Given the description of an element on the screen output the (x, y) to click on. 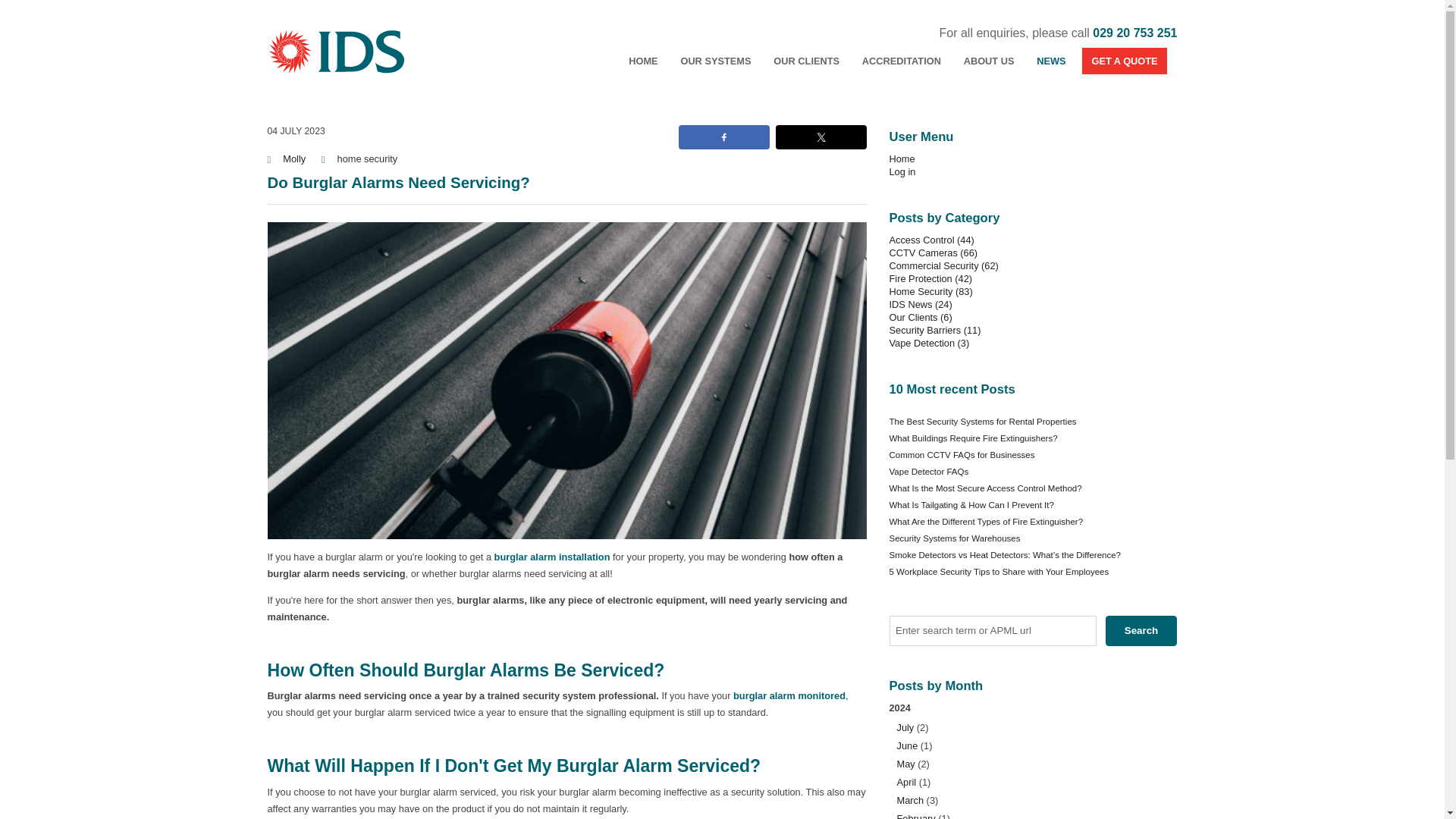
burglar alarm monitored (789, 695)
Enter search term or APML url (992, 630)
HOME (643, 60)
NEWS (1050, 60)
OUR SYSTEMS (715, 60)
ABOUT US (989, 60)
Search (1141, 630)
Molly (296, 158)
Log in (901, 171)
call us today on 029 20 753 251 (1134, 32)
GET A QUOTE (1123, 60)
burglar alarm installation (552, 556)
Do Burglar Alarms Need Servicing? (397, 181)
Home (901, 158)
OUR CLIENTS (806, 60)
